Given the description of an element on the screen output the (x, y) to click on. 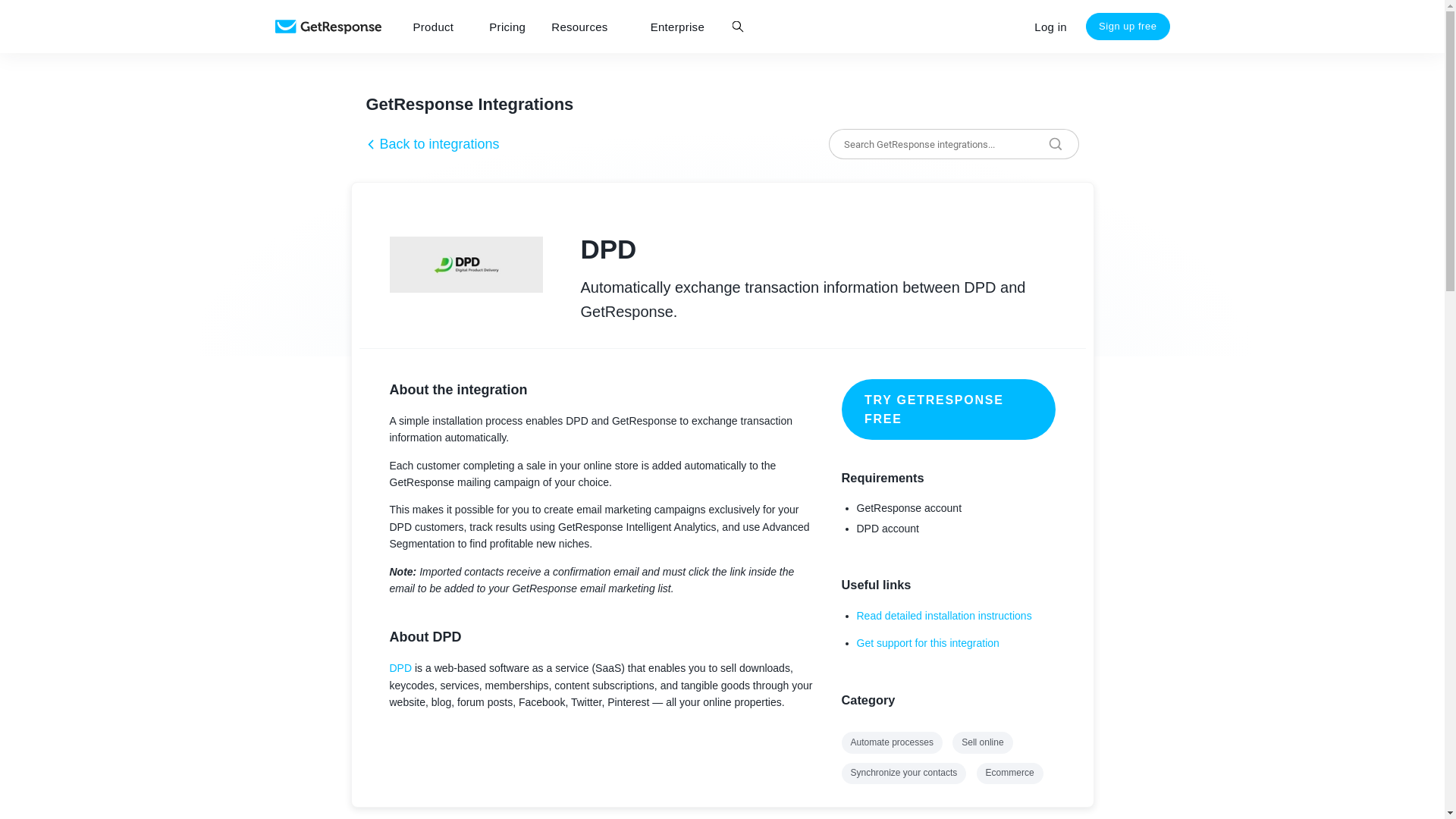
Marketing Software by GetResponse (327, 26)
Enterprise (677, 26)
TRY GETRESPONSE FREE (948, 409)
Log in (1051, 26)
Marketing Software by GetResponse (327, 26)
Sign up free (1128, 26)
Pricing (507, 26)
Back to integrations (432, 144)
Sign up free (1128, 26)
DPD (401, 667)
